Given the description of an element on the screen output the (x, y) to click on. 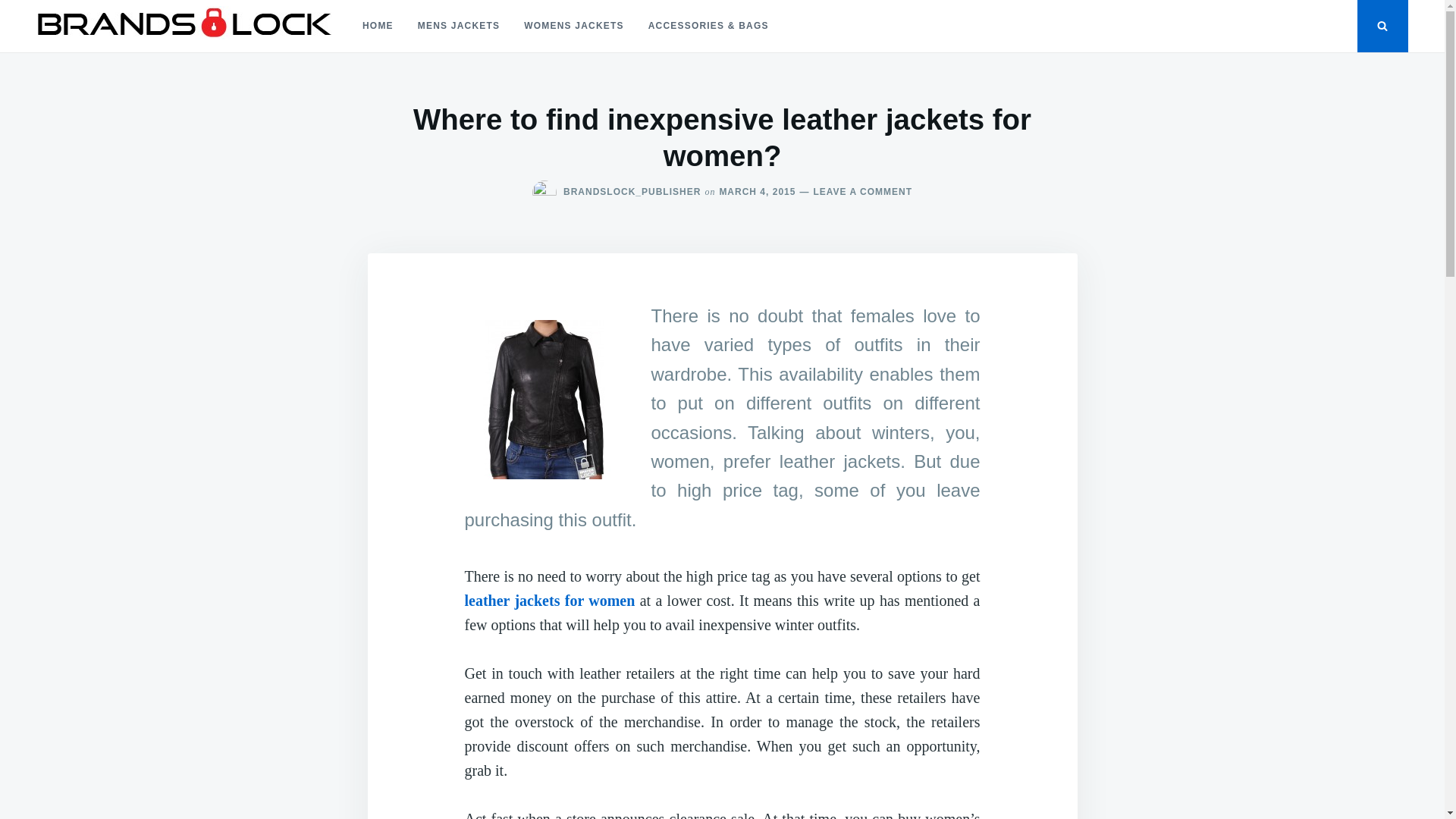
leather jackets for women (551, 600)
MARCH 4, 2015 (756, 191)
WOMENS JACKETS (573, 25)
MENS JACKETS (459, 25)
HOME (378, 25)
